Given the description of an element on the screen output the (x, y) to click on. 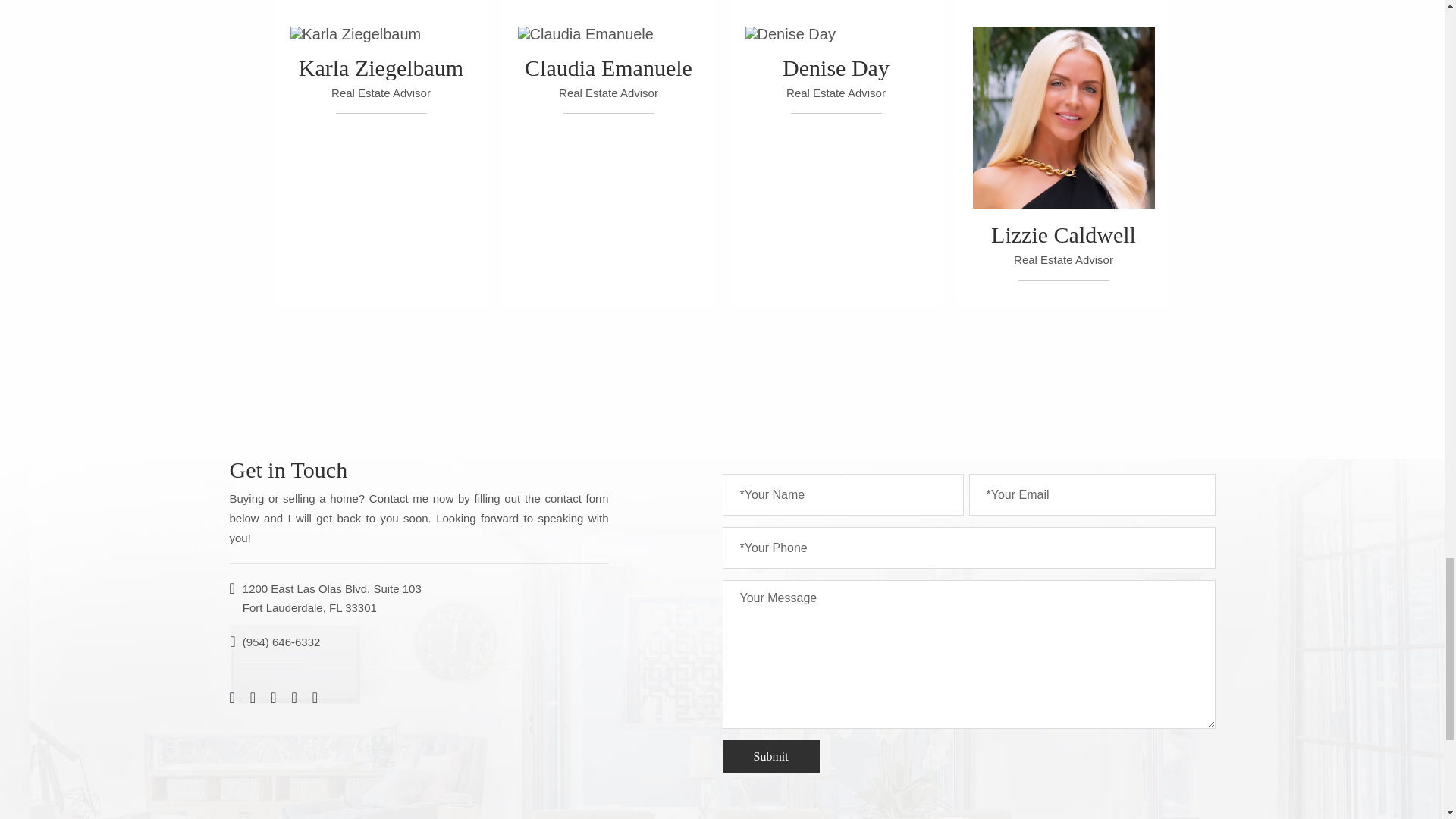
Submit (770, 756)
